Given the description of an element on the screen output the (x, y) to click on. 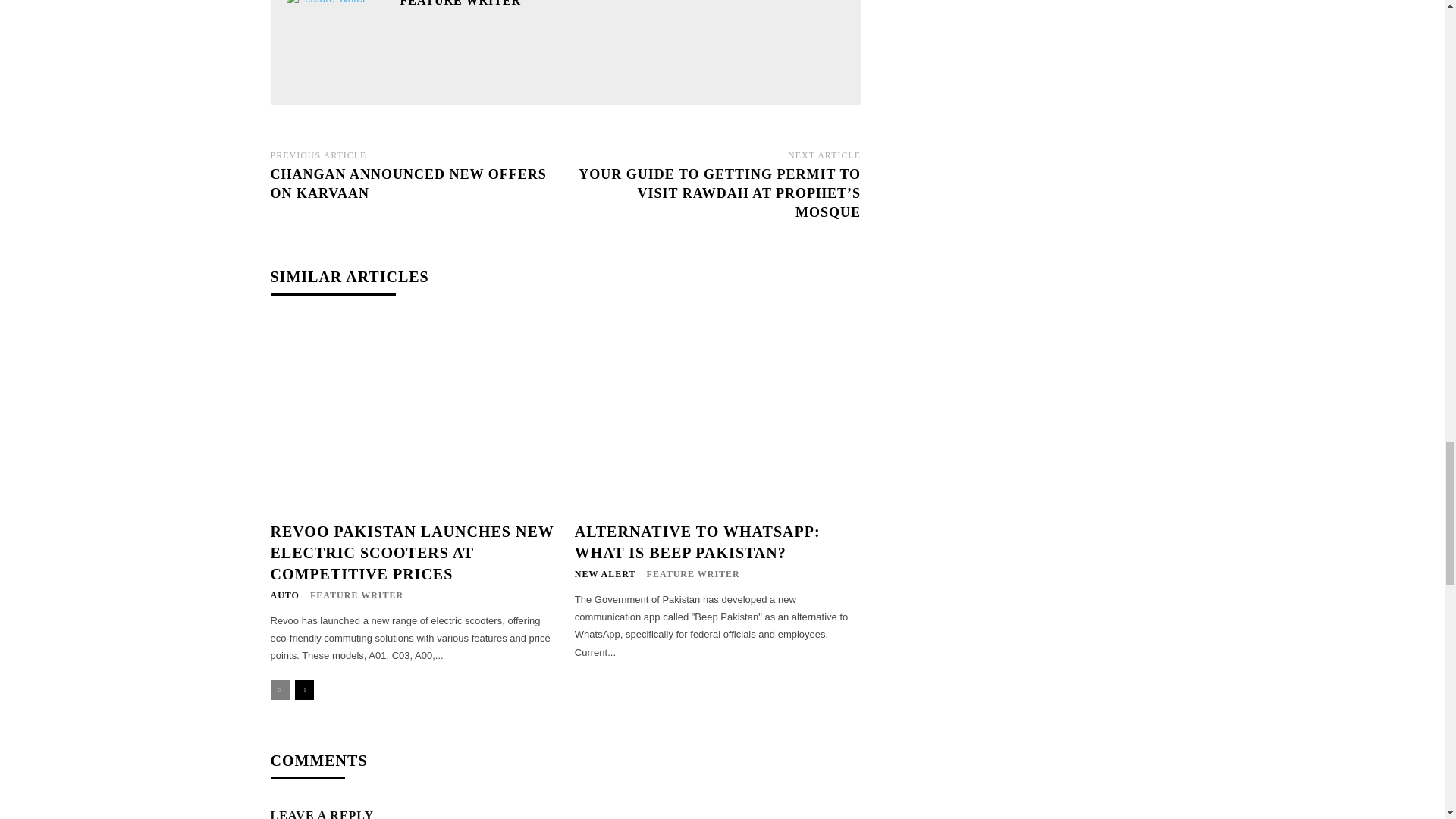
Feature Writer (335, 44)
